Given the description of an element on the screen output the (x, y) to click on. 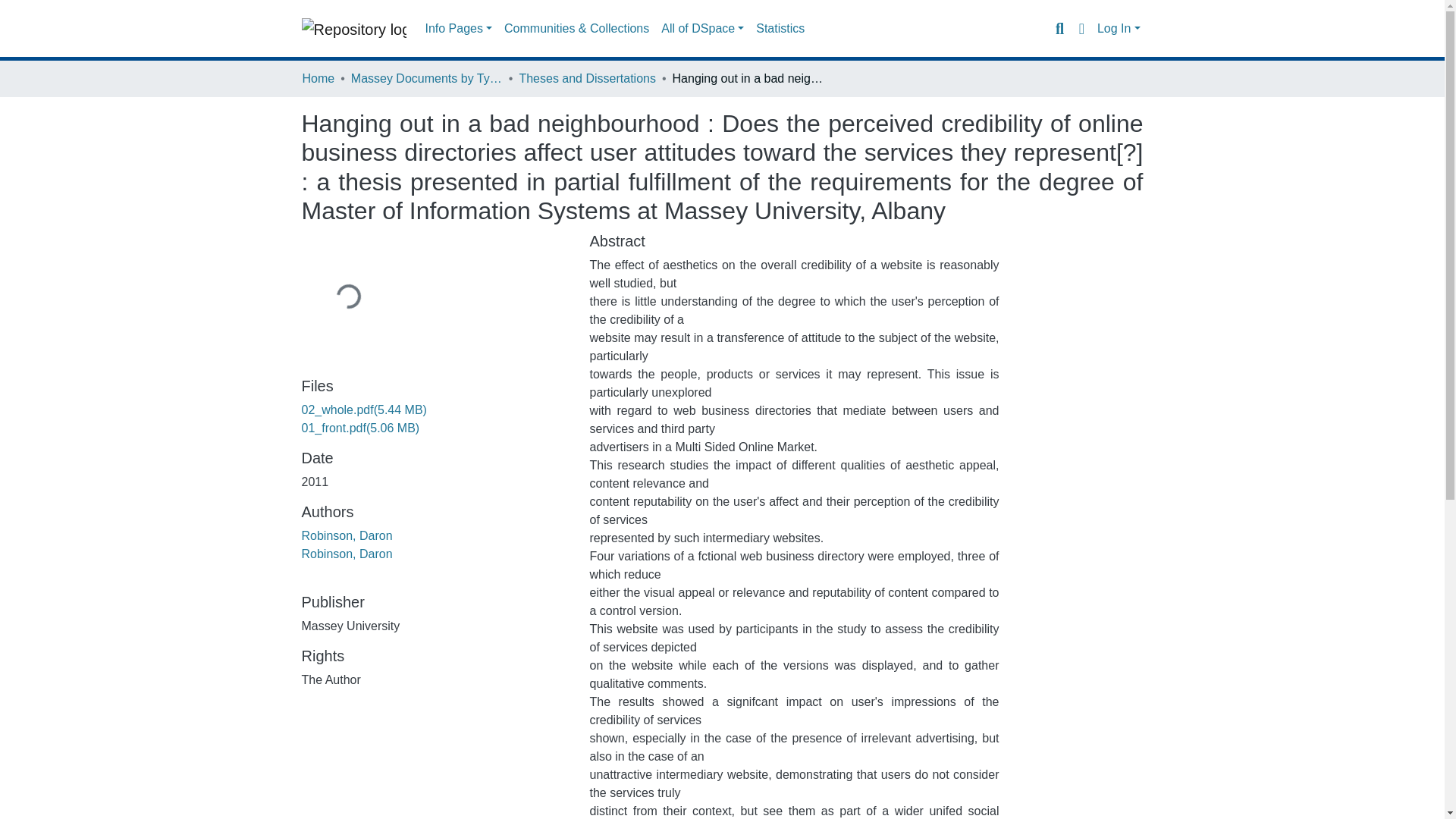
Statistics (779, 28)
All of DSpace (702, 28)
Info Pages (458, 28)
Home (317, 78)
Statistics (779, 28)
Massey Documents by Type (426, 78)
Search (1058, 28)
Theses and Dissertations (587, 78)
Robinson, Daron (347, 535)
Robinson, Daron (347, 553)
